Given the description of an element on the screen output the (x, y) to click on. 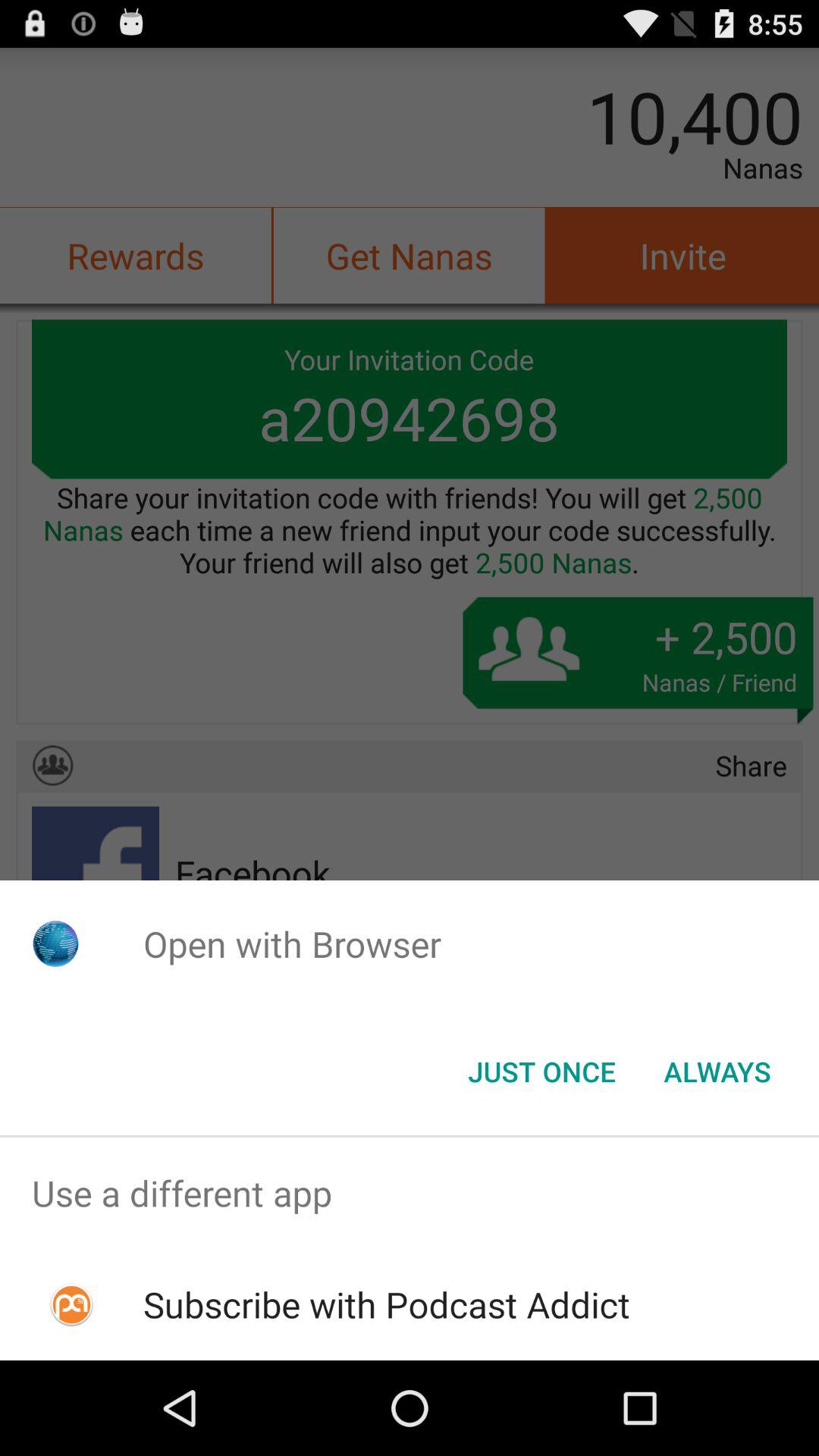
press button to the left of the always item (541, 1071)
